Given the description of an element on the screen output the (x, y) to click on. 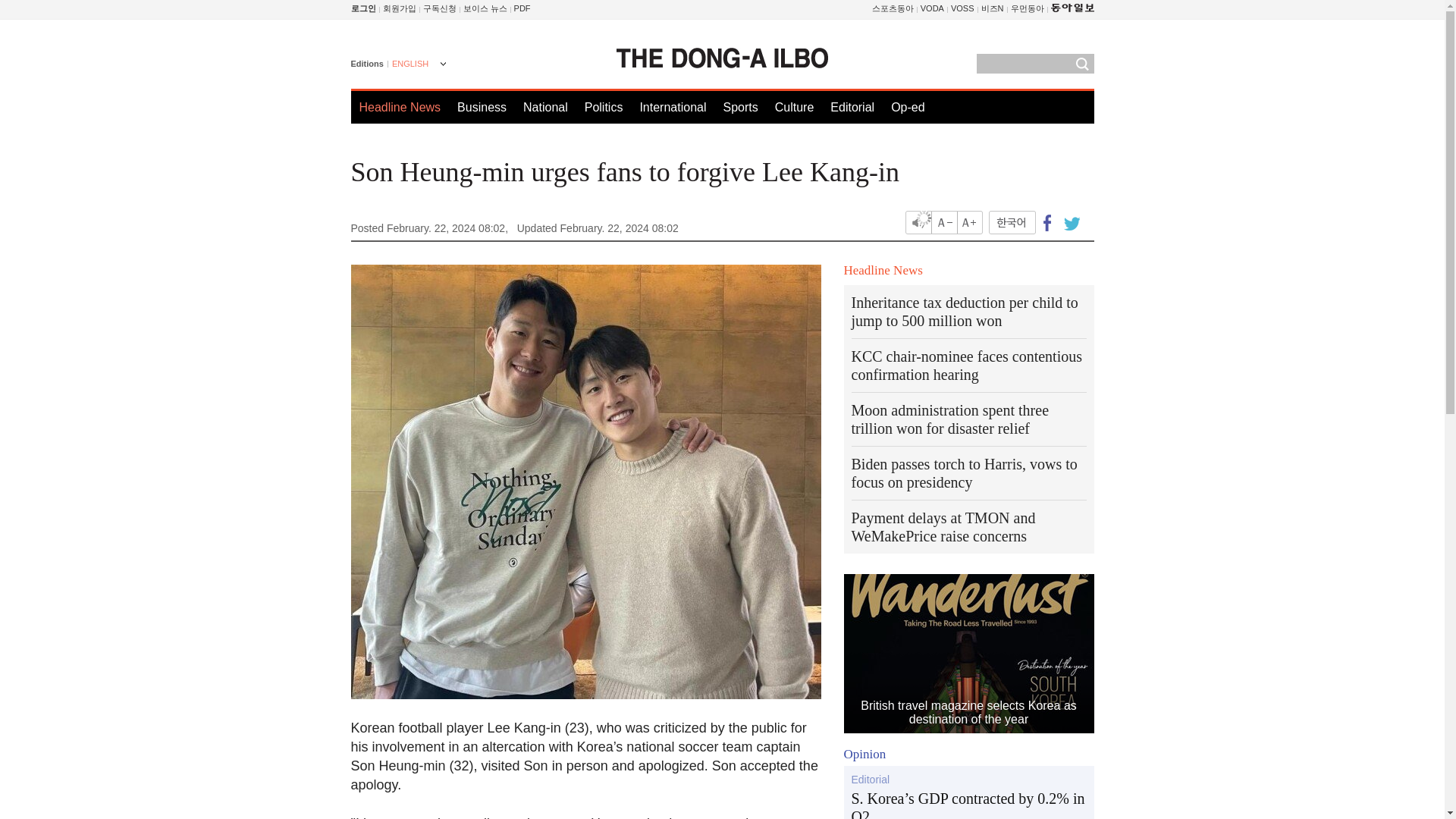
Sports (739, 106)
Share this article on Facebook (1047, 222)
VODA (931, 8)
Editorial (852, 106)
SPORTS (893, 8)
PDF (522, 8)
VOSS (962, 8)
READERS (440, 8)
Politics (604, 106)
VOICE (484, 8)
Font size down (944, 222)
National (544, 106)
Op-ed (907, 106)
VODA (931, 8)
Business (481, 106)
